Given the description of an element on the screen output the (x, y) to click on. 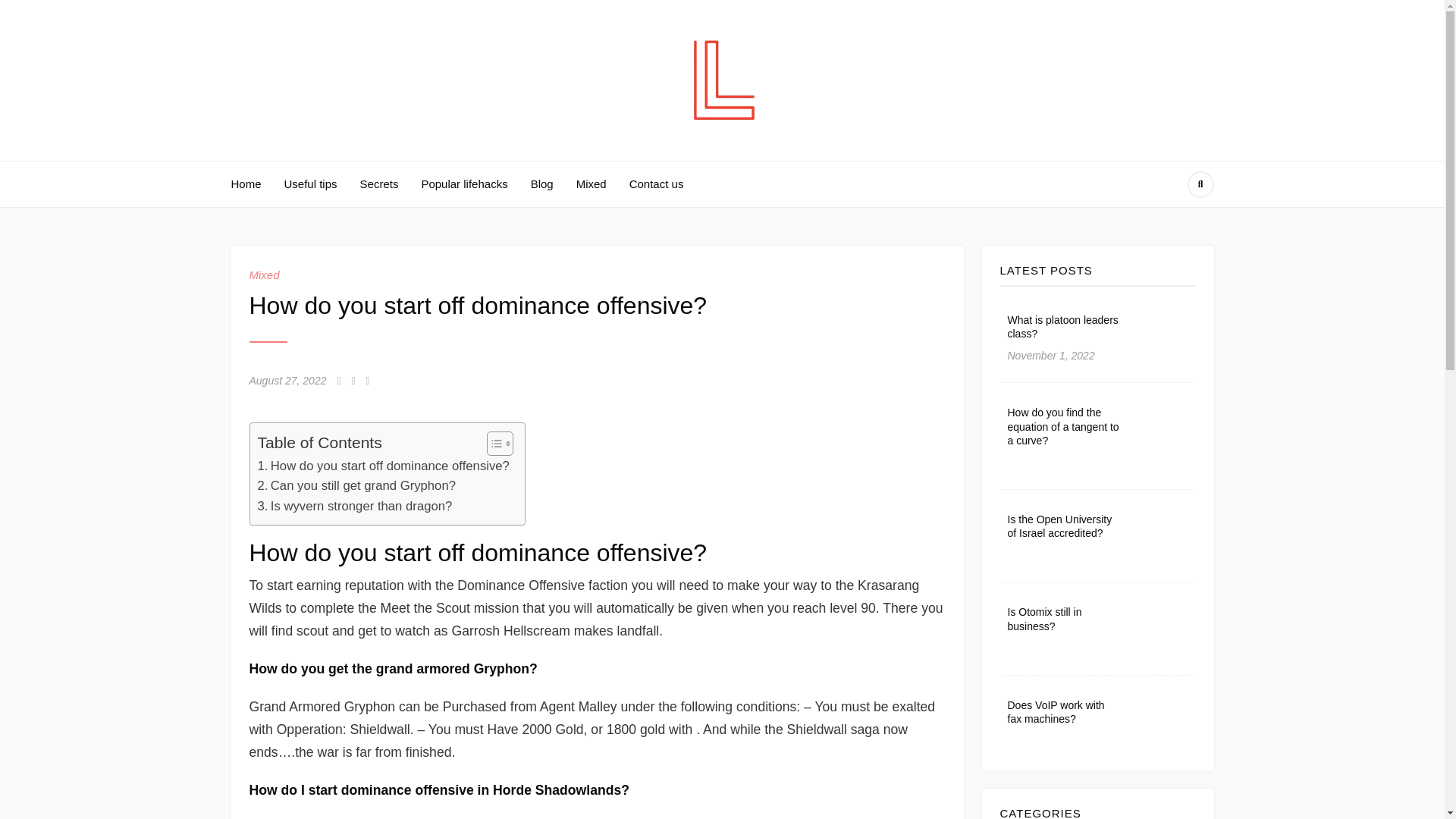
Mixed (591, 184)
Contact us (656, 184)
Useful tips (310, 184)
How do you start off dominance offensive? (383, 466)
Popular lifehacks (463, 184)
Can you still get grand Gryphon? (357, 485)
Is wyvern stronger than dragon? (354, 506)
Can you still get grand Gryphon? (357, 485)
Is wyvern stronger than dragon? (354, 506)
Blog (542, 184)
Home (245, 184)
August 27, 2022 (287, 380)
How do you start off dominance offensive? (383, 466)
Secrets (378, 184)
Mixed (263, 274)
